Given the description of an element on the screen output the (x, y) to click on. 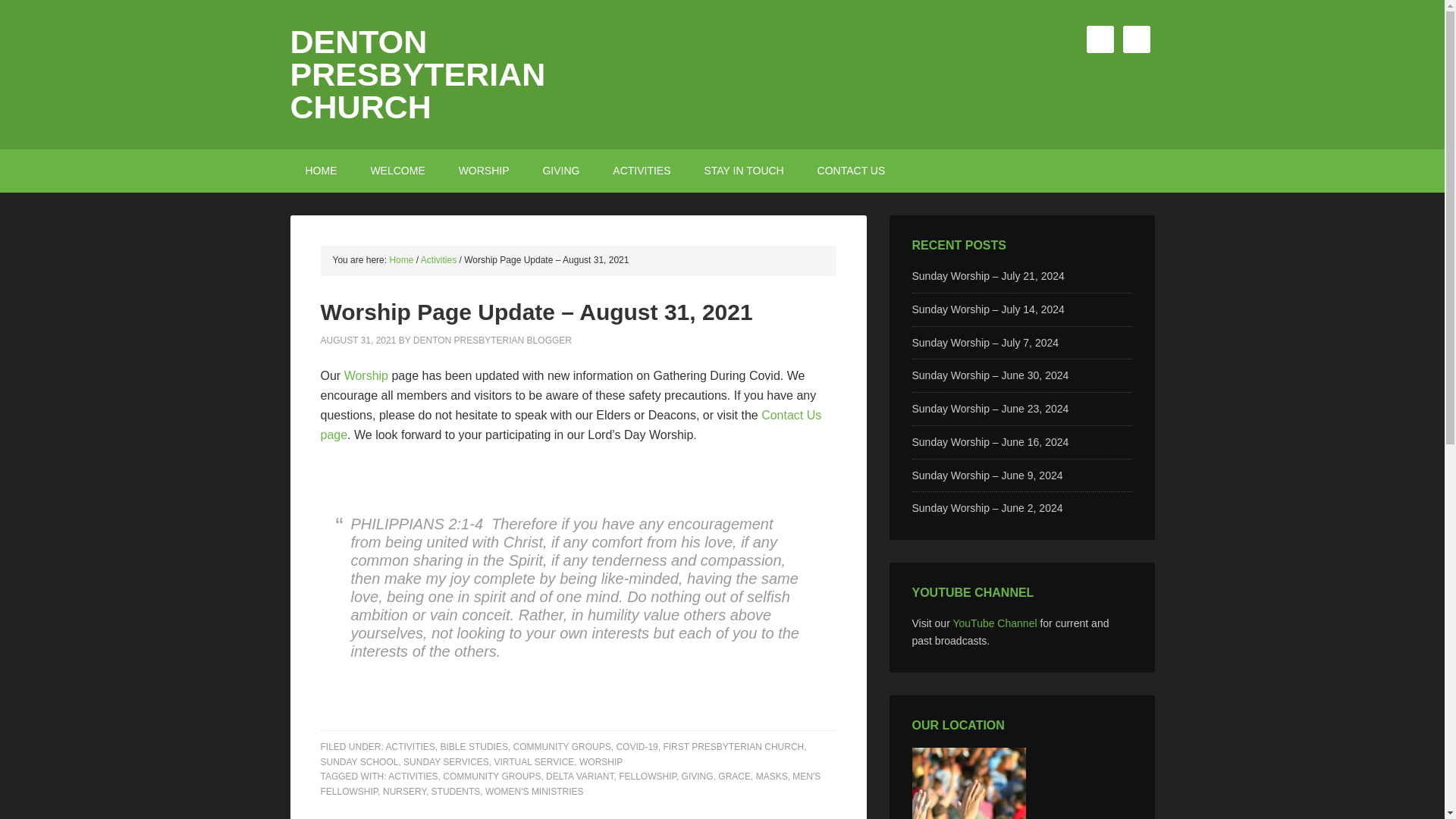
DENTON PRESBYTERIAN BLOGGER (492, 339)
SUNDAY SCHOOL (358, 761)
BIBLE STUDIES (474, 747)
COVID-19 (636, 747)
Activities (438, 259)
DENTON PRESBYTERIAN CHURCH (416, 74)
COMMUNITY GROUPS (491, 776)
ACTIVITIES (413, 776)
CONTACT US (851, 170)
Worship (365, 375)
GIVING (560, 170)
Contact Us page (570, 424)
Home (400, 259)
FELLOWSHIP (647, 776)
VIRTUAL SERVICE (533, 761)
